Given the description of an element on the screen output the (x, y) to click on. 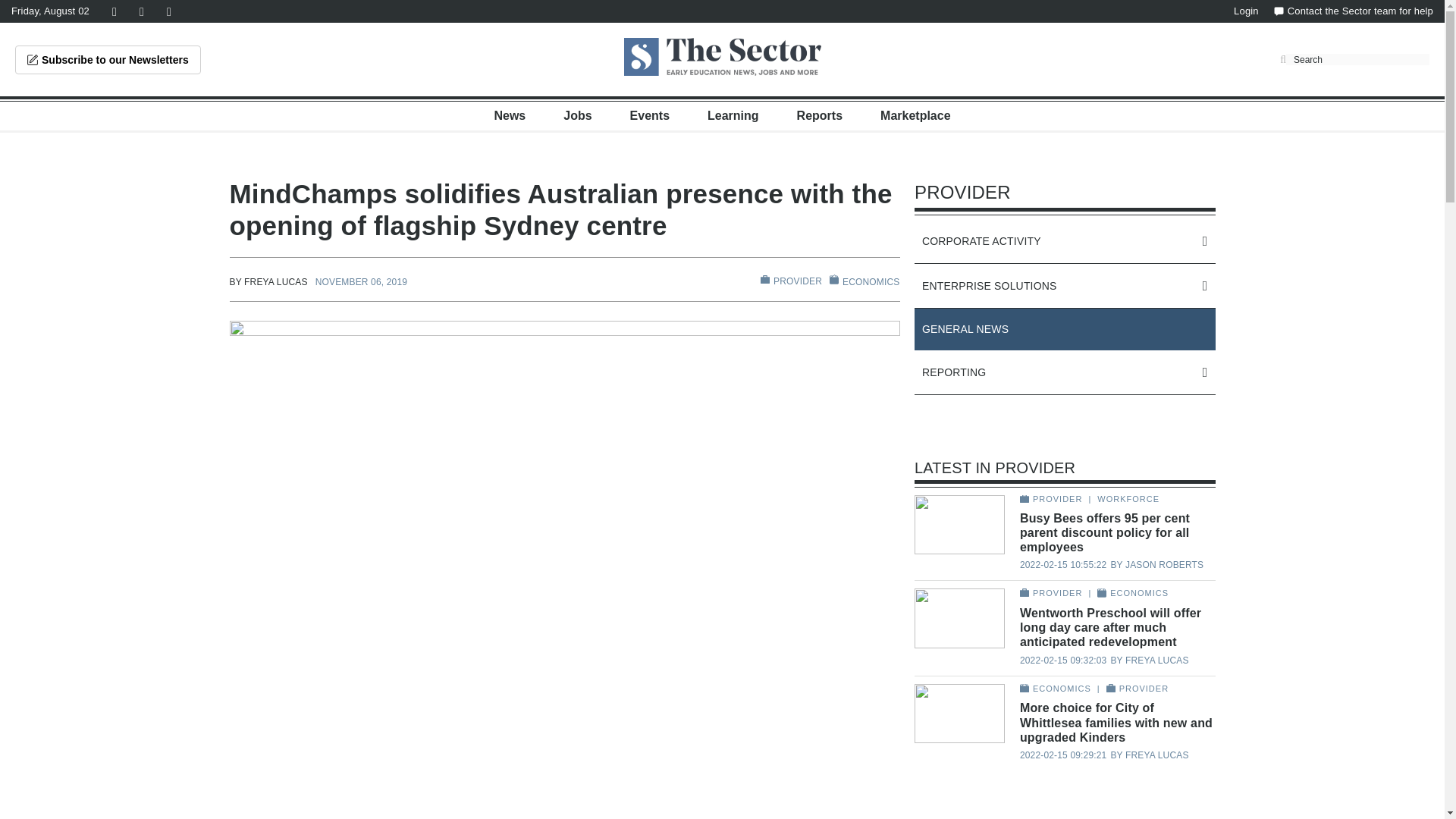
Subscribe to our Newsletters (107, 59)
Contact the Sector team for help (1353, 11)
Events (649, 115)
FILL 11 COPY 7 CREATED WITH SKETCH. (765, 279)
FILL 11 COPY 7 CREATED WITH SKETCH. PROVIDER (791, 280)
News (509, 115)
Learning (732, 115)
Jobs (577, 115)
Reports (819, 115)
Marketplace (915, 115)
Login (1246, 11)
FILL 1 COPY 8 CREATED WITH SKETCH. ECONOMICS (864, 280)
FILL 1 COPY 8 CREATED WITH SKETCH. (833, 279)
